Given the description of an element on the screen output the (x, y) to click on. 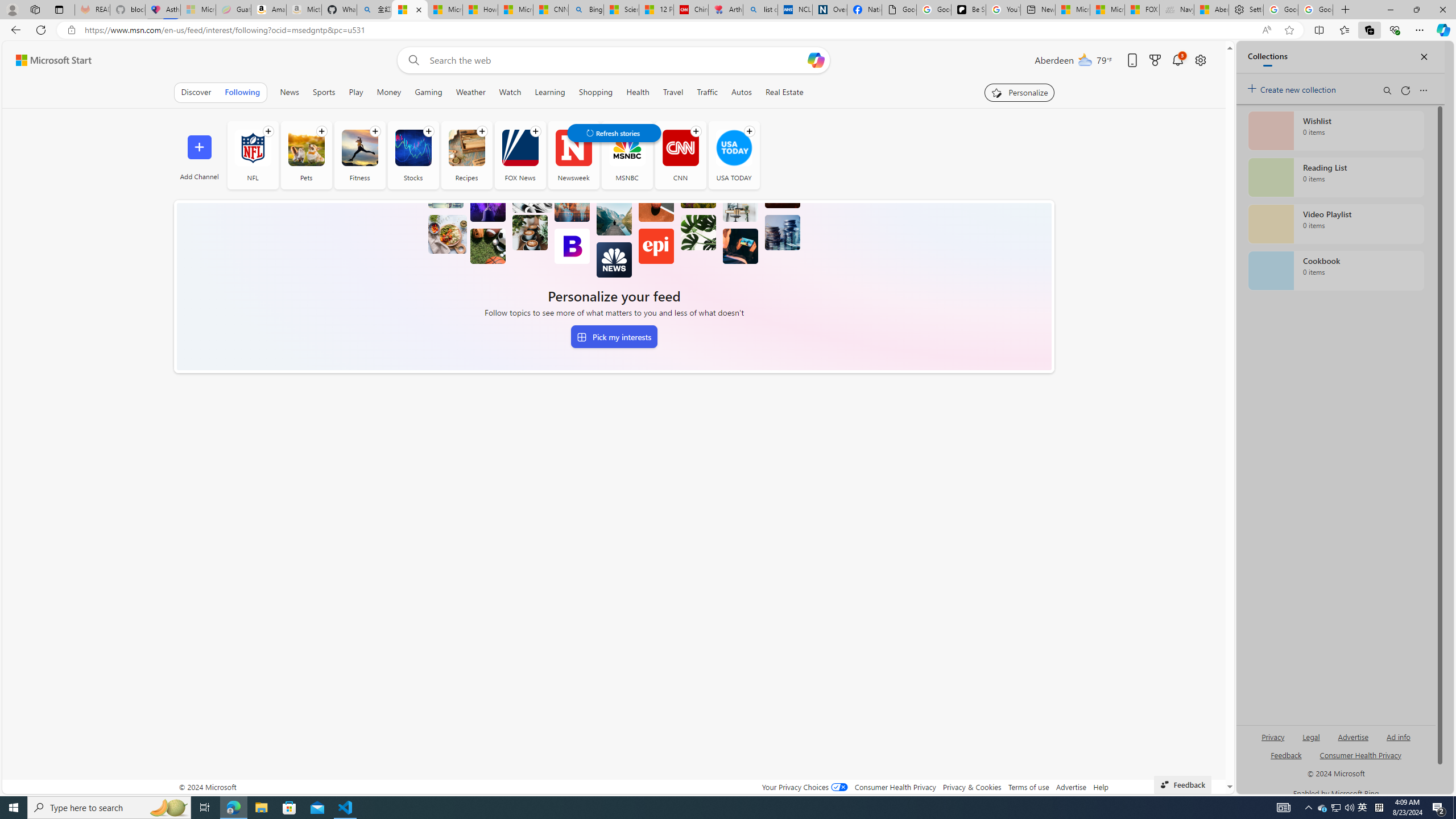
NFL (252, 155)
MSNBC (626, 155)
Open Copilot (816, 59)
Web search (411, 60)
NFL (252, 147)
Microsoft rewards (1154, 60)
News (289, 92)
Traffic (707, 92)
